Given the description of an element on the screen output the (x, y) to click on. 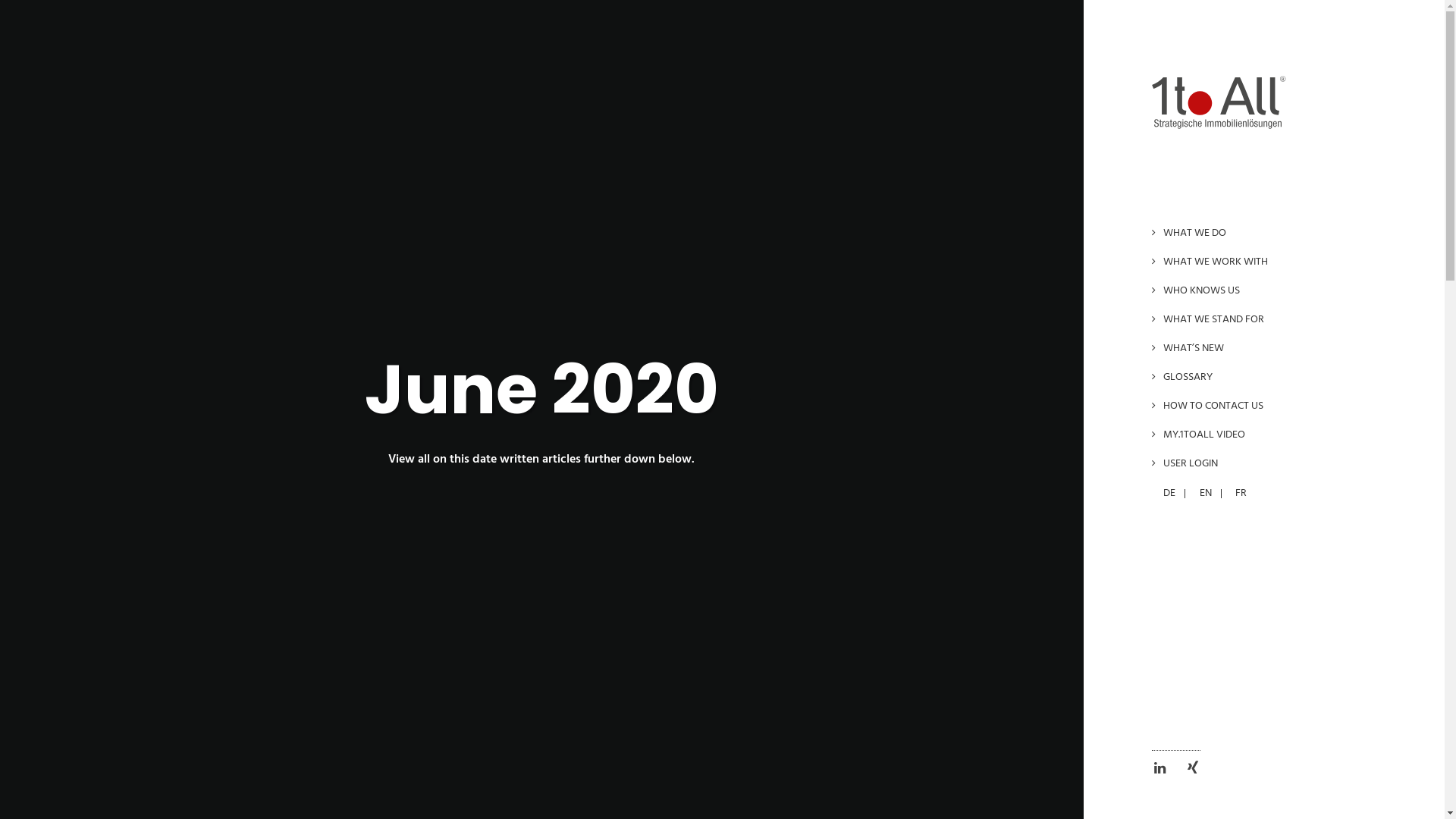
USER LOGIN Element type: text (1269, 463)
DE Element type: text (1169, 492)
WHO KNOWS US Element type: text (1269, 290)
MY.1TOALL VIDEO Element type: text (1269, 434)
EN Element type: text (1205, 492)
HOW TO CONTACT US Element type: text (1269, 406)
WHAT WE DO Element type: text (1269, 233)
WHAT WE WORK WITH Element type: text (1269, 262)
FR Element type: text (1240, 492)
WHAT WE STAND FOR Element type: text (1269, 319)
GLOSSARY Element type: text (1269, 377)
